Given the description of an element on the screen output the (x, y) to click on. 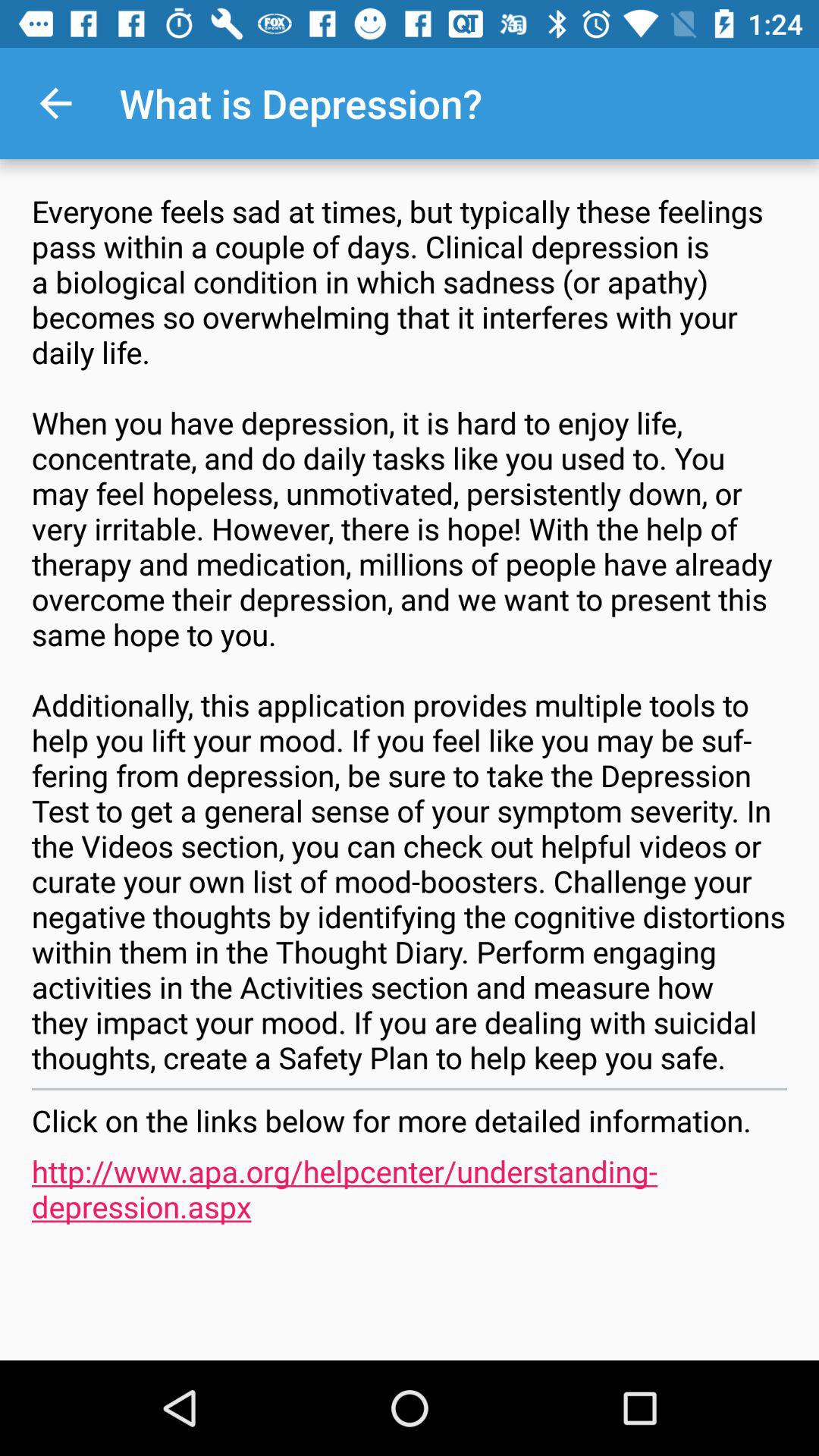
select the icon above the everyone feels sad icon (55, 103)
